Given the description of an element on the screen output the (x, y) to click on. 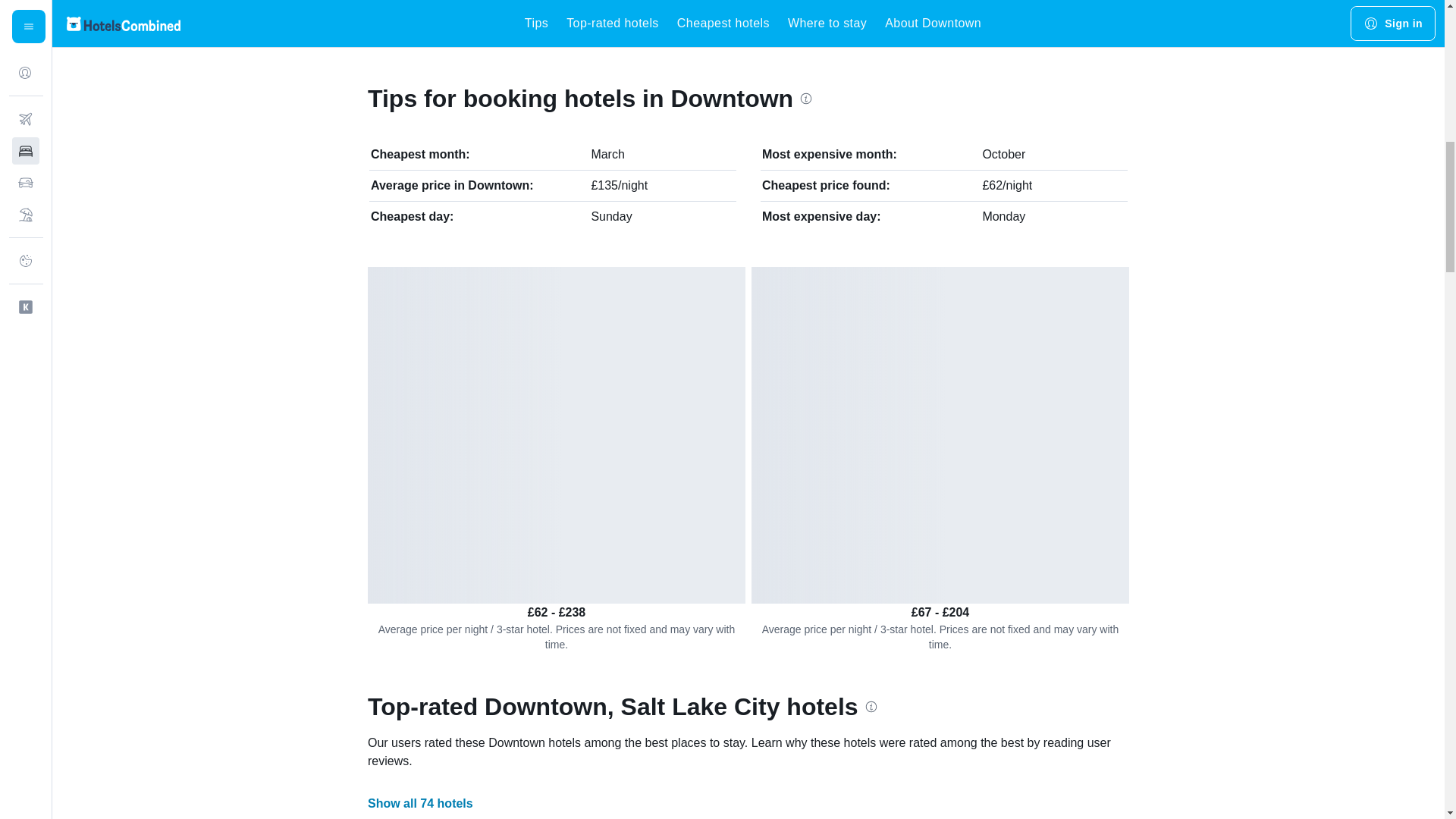
Salt Lake City Hotels (678, 22)
United States Hotels (445, 22)
Home (373, 22)
Show all 74 hotels (420, 802)
Monday (1003, 215)
March (607, 154)
Sunday (611, 215)
Utah Hotels (564, 22)
October (1003, 154)
